Given the description of an element on the screen output the (x, y) to click on. 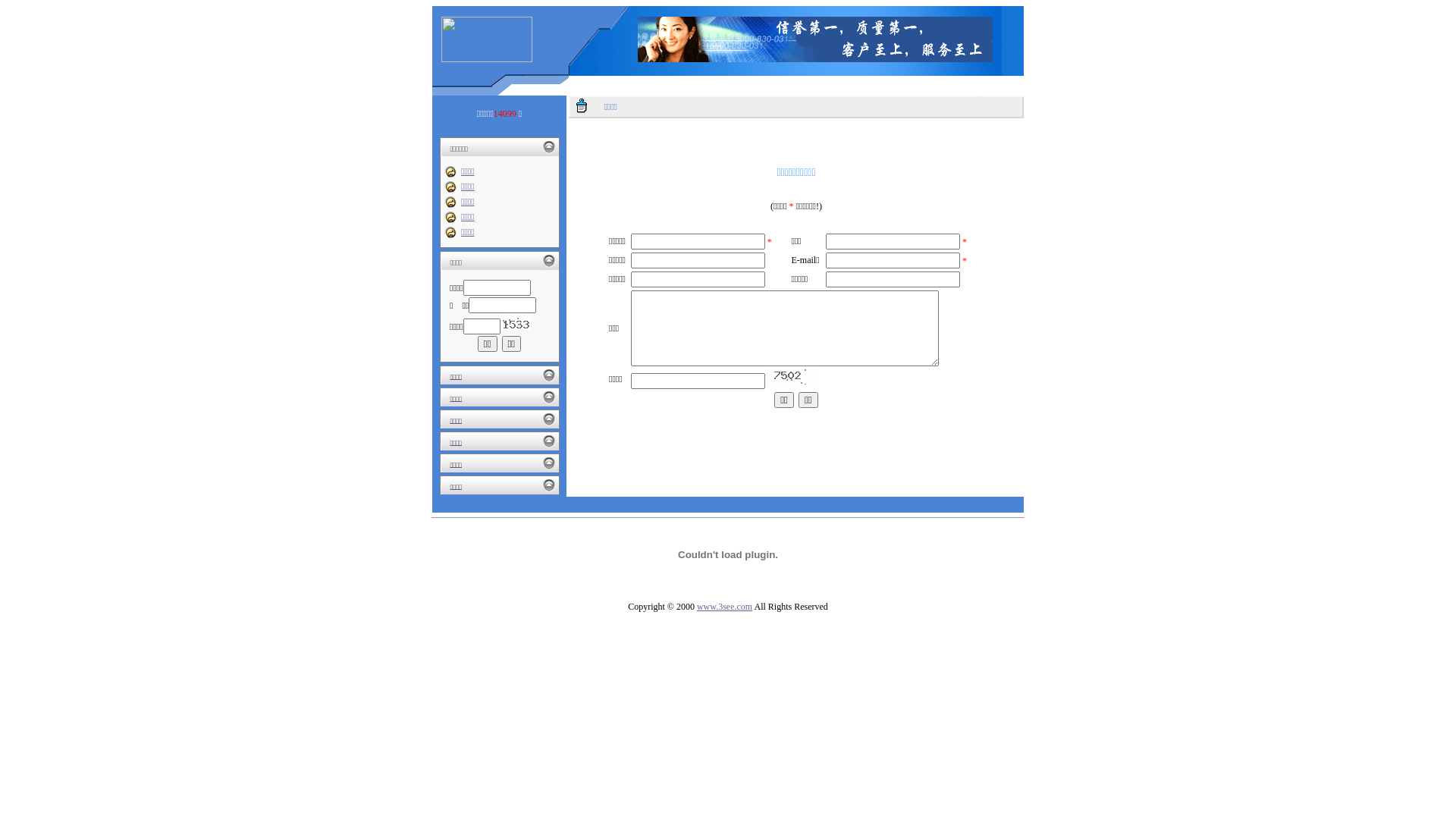
www.3see.com Element type: text (724, 606)
